Given the description of an element on the screen output the (x, y) to click on. 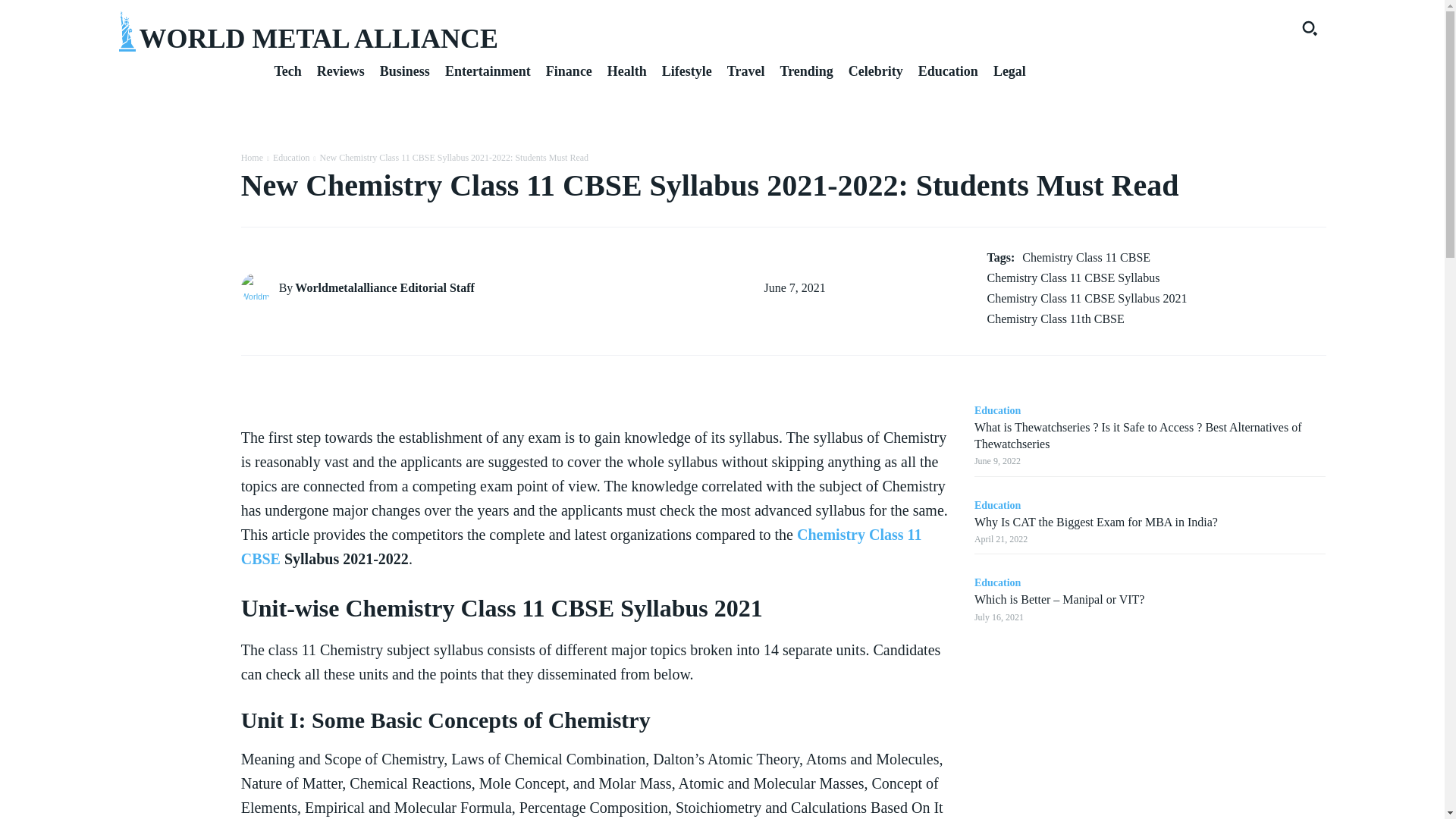
Trending (805, 71)
Education (948, 71)
Legal (1009, 71)
Worldmetalalliance Editorial Staff (260, 287)
Business (404, 71)
Health (626, 71)
Lifestyle (686, 71)
WORLD METAL ALLIANCE (410, 31)
Travel (745, 71)
Finance (569, 71)
